Given the description of an element on the screen output the (x, y) to click on. 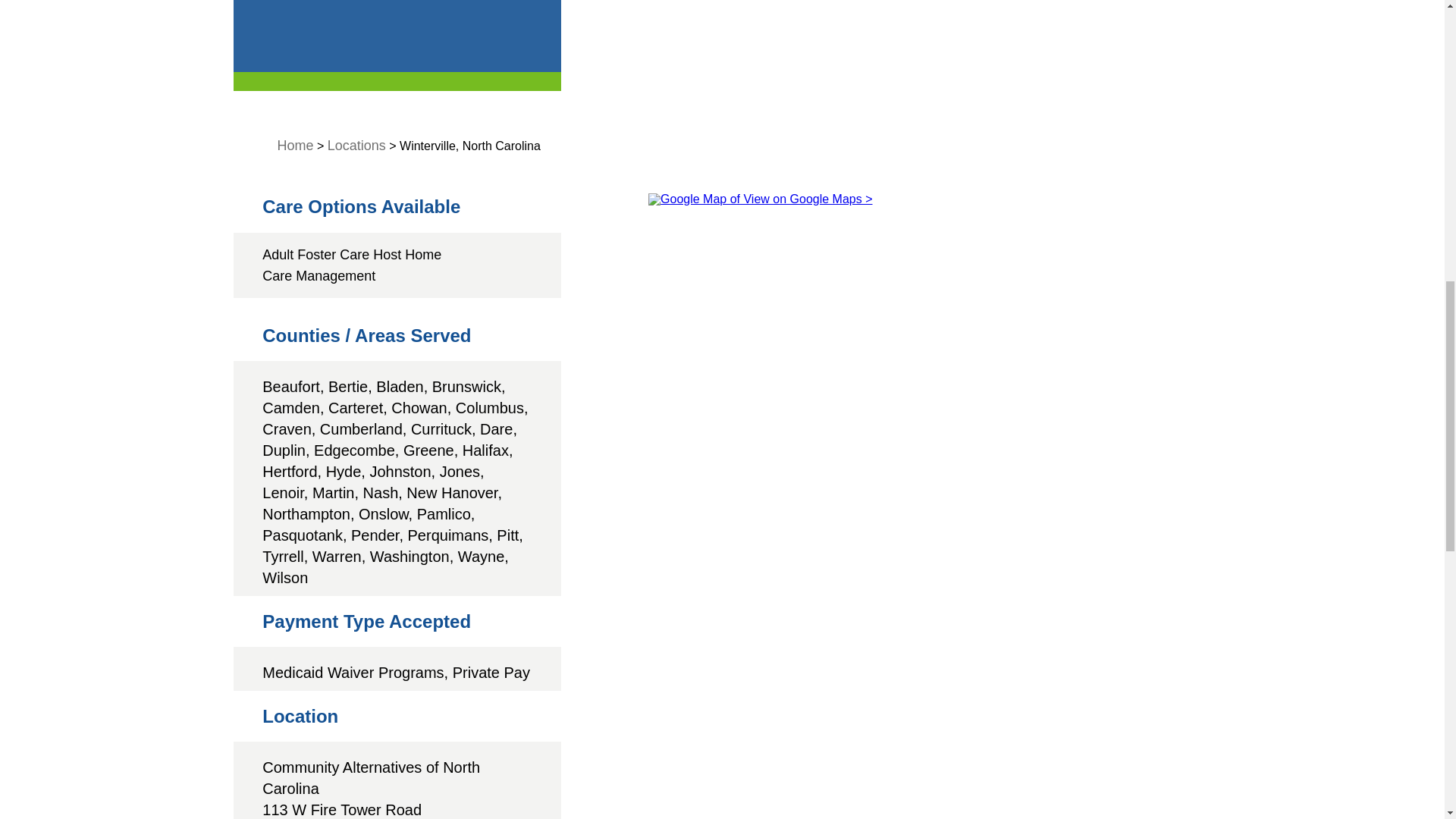
Home (296, 145)
Adult Foster Care Host Home (351, 254)
Locations (356, 145)
Care Management (318, 275)
